Given the description of an element on the screen output the (x, y) to click on. 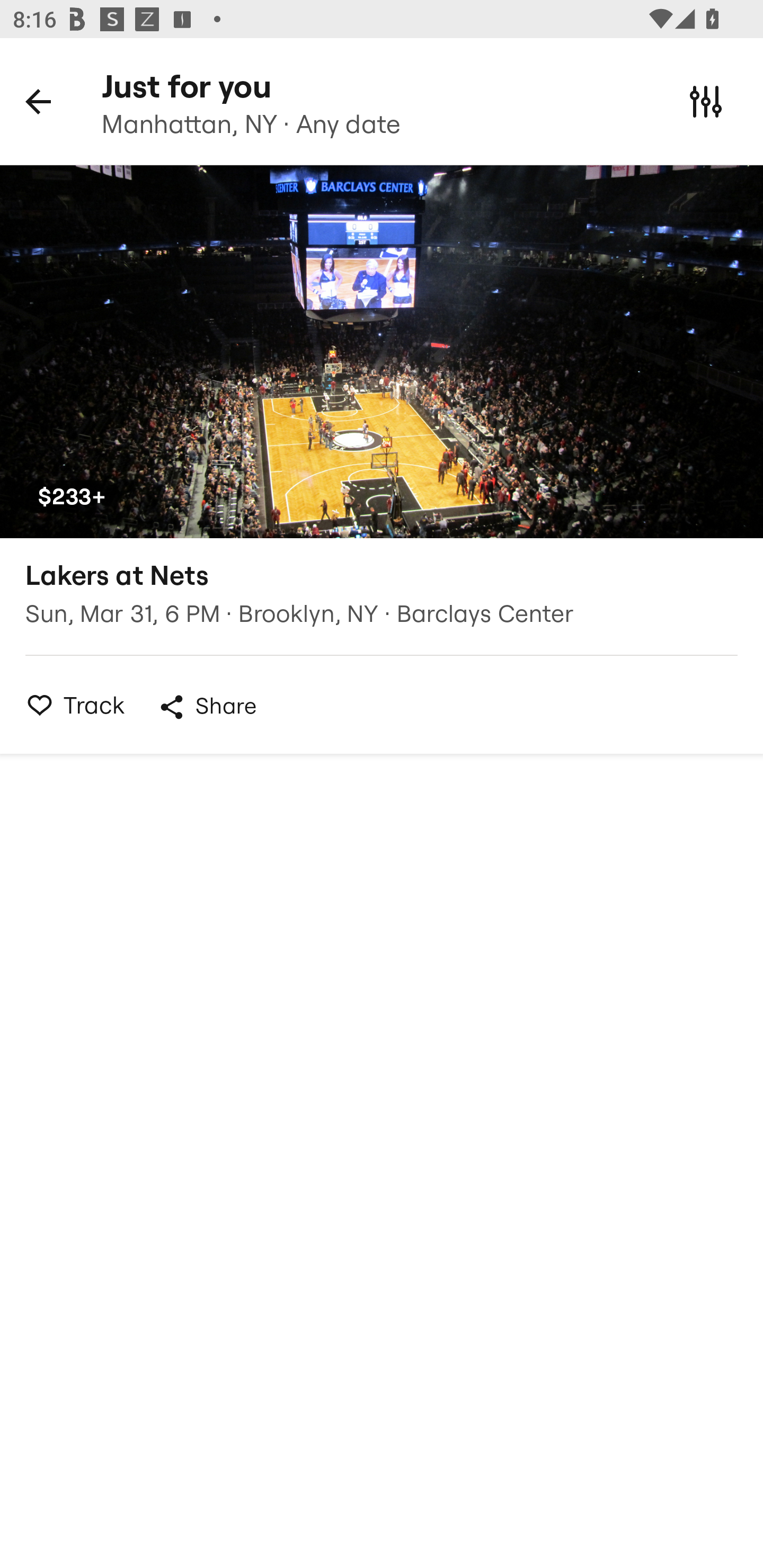
Back (38, 100)
Close (705, 100)
Track (70, 704)
Share (207, 706)
